Given the description of an element on the screen output the (x, y) to click on. 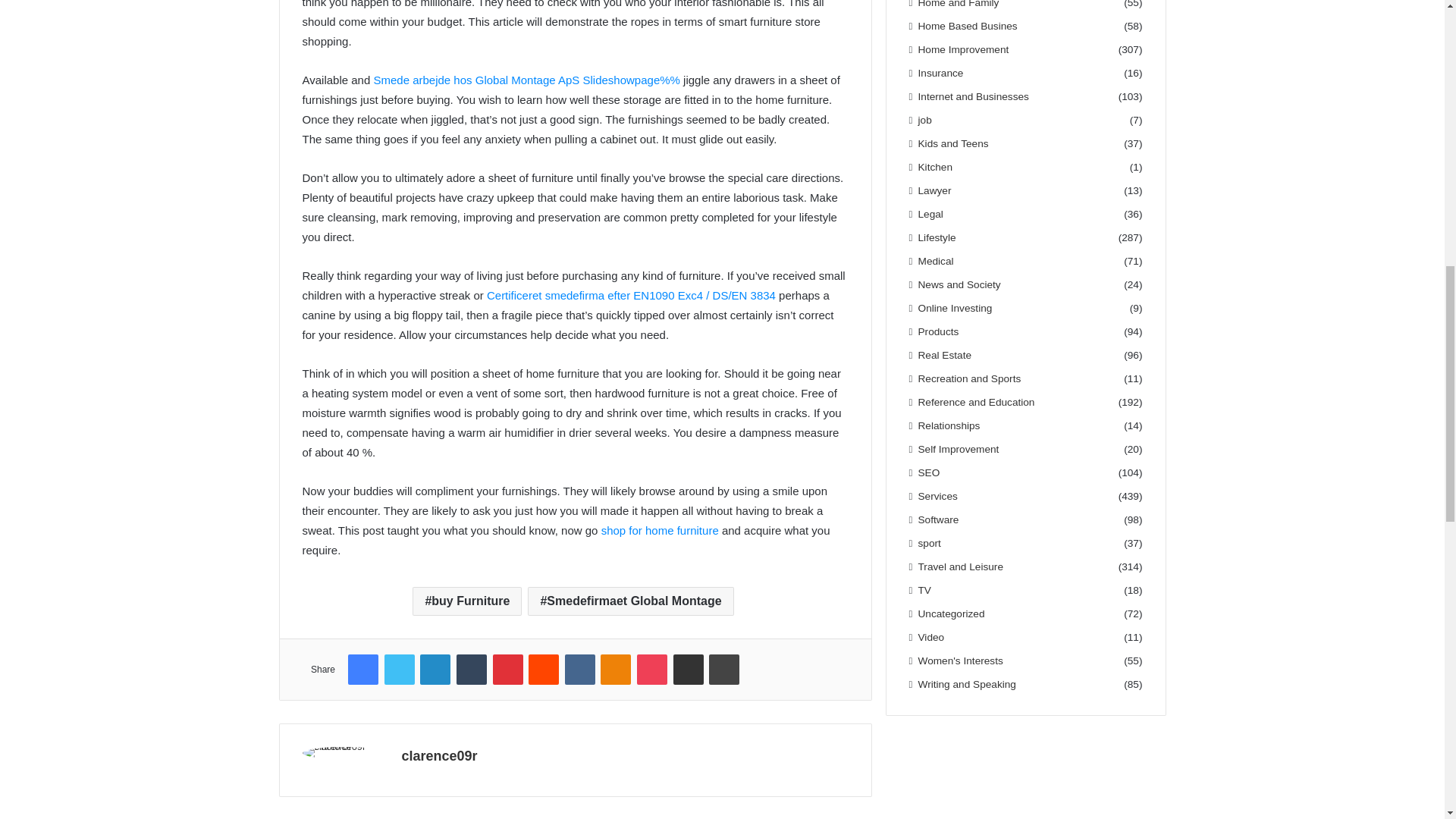
Reddit (543, 669)
LinkedIn (434, 669)
Facebook (362, 669)
Tumblr (471, 669)
buy Furniture (466, 601)
Twitter (399, 669)
Facebook (362, 669)
Odnoklassniki (614, 669)
Pinterest (507, 669)
Smedefirmaet Global Montage (630, 601)
